Given the description of an element on the screen output the (x, y) to click on. 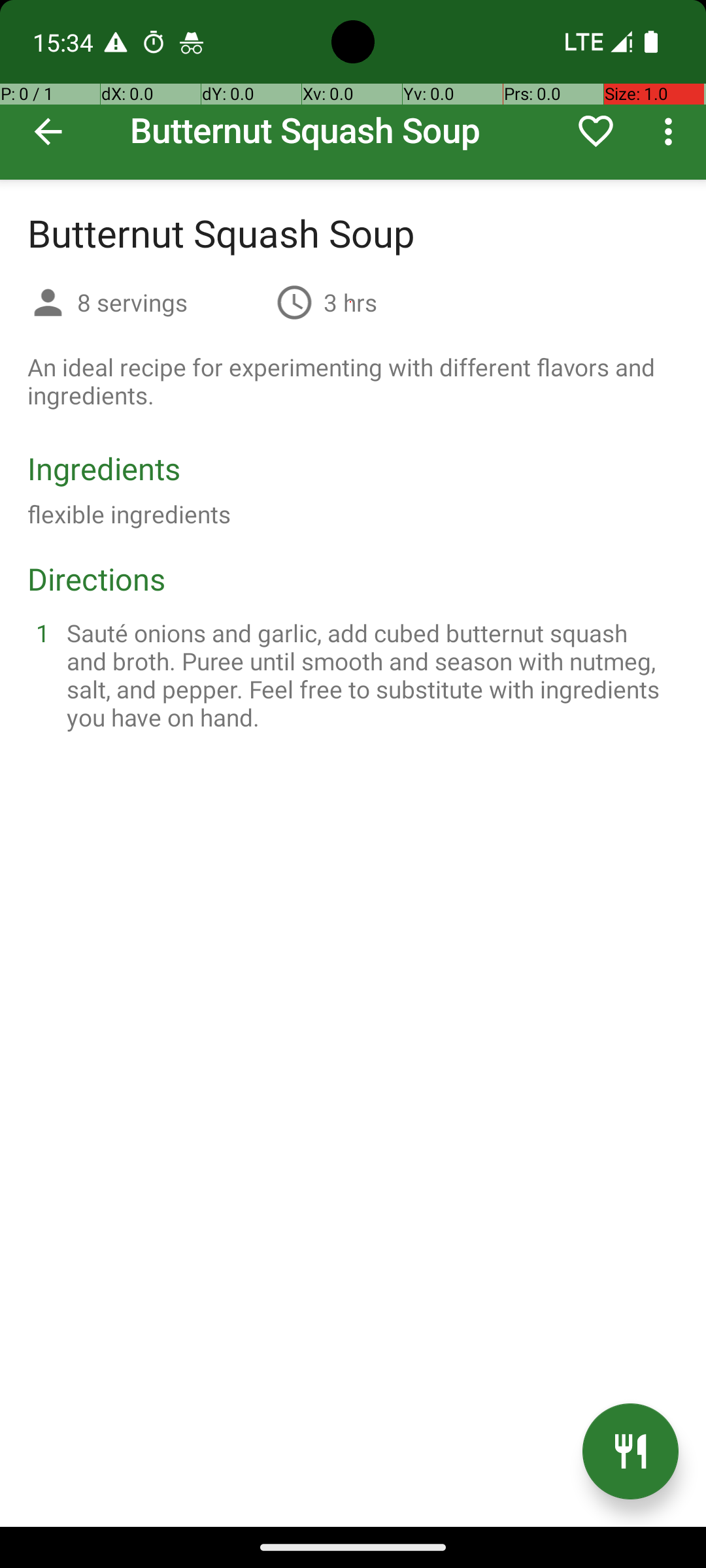
flexible ingredients Element type: android.widget.TextView (128, 513)
Sauté onions and garlic, add cubed butternut squash and broth. Puree until smooth and season with nutmeg, salt, and pepper. Feel free to substitute with ingredients you have on hand. Element type: android.widget.TextView (368, 674)
